Given the description of an element on the screen output the (x, y) to click on. 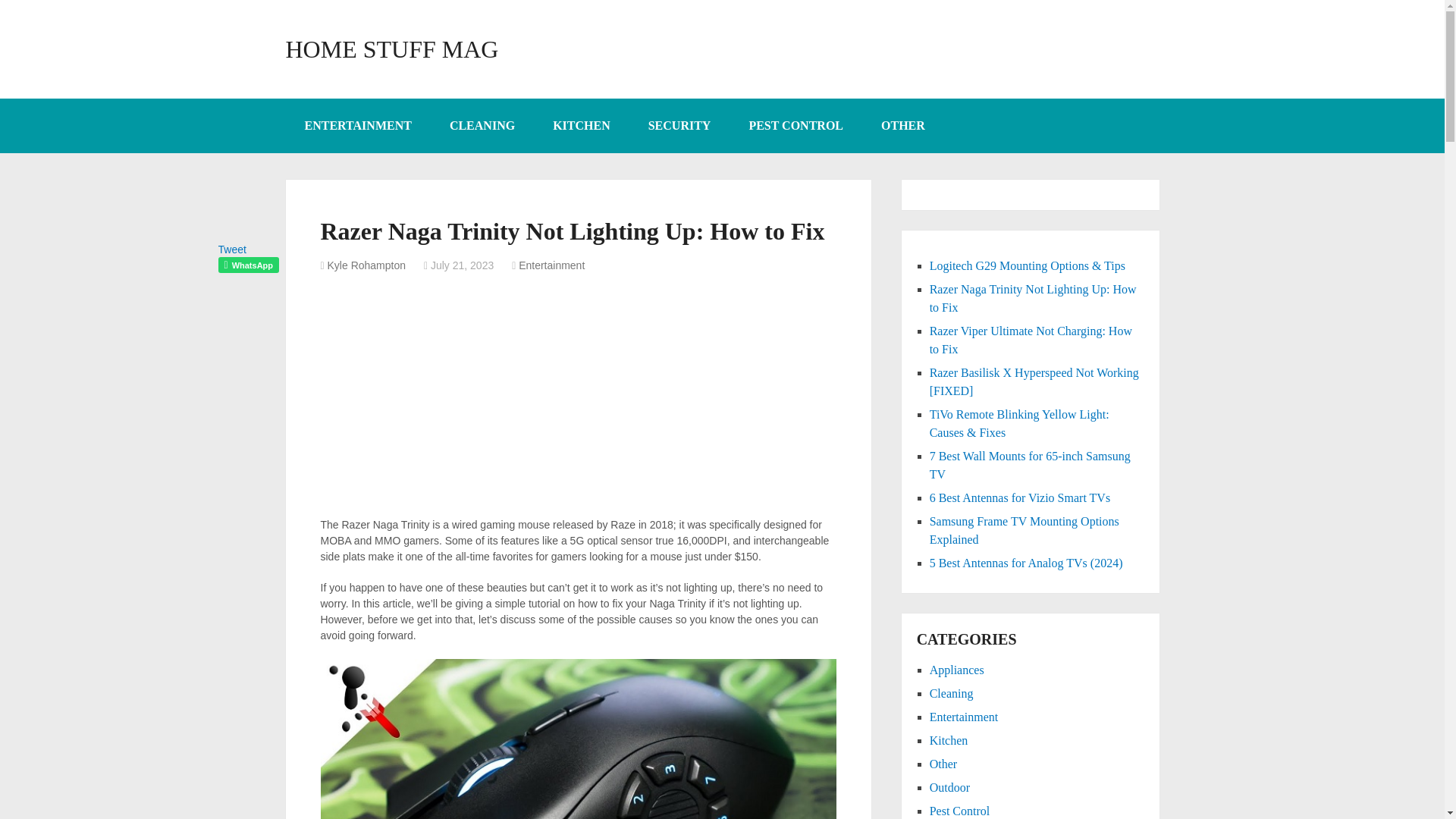
KITCHEN (581, 125)
Razer Viper Ultimate Not Charging: How to Fix (1031, 339)
Razer Naga Trinity Not Lighting Up: How to Fix (1033, 297)
OTHER (902, 125)
Entertainment (551, 265)
Advertisement (577, 410)
WhatsApp (248, 264)
PEST CONTROL (795, 125)
Tweet (232, 249)
HOME STUFF MAG (391, 48)
